Given the description of an element on the screen output the (x, y) to click on. 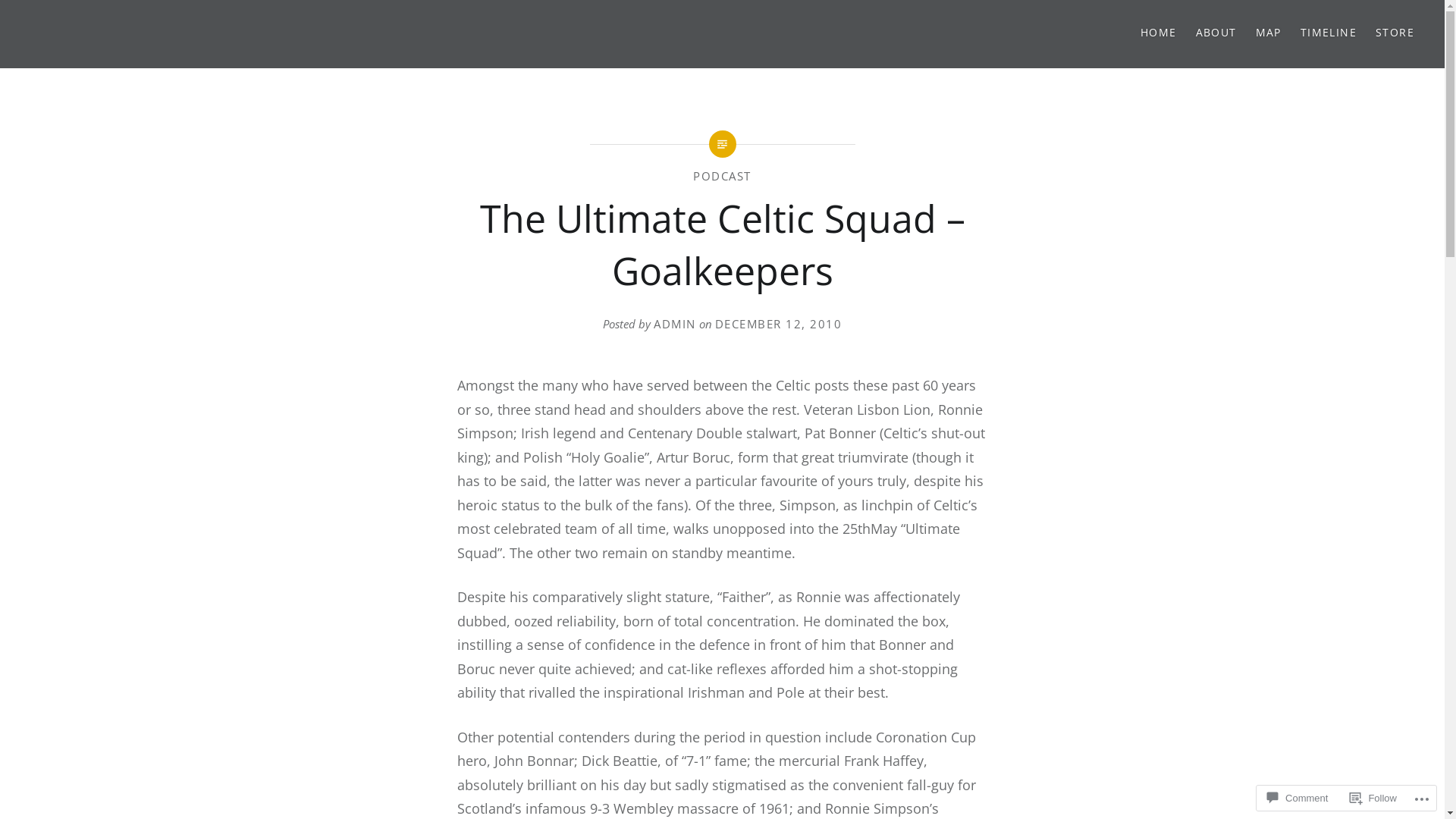
STORE Element type: text (1394, 32)
HOME Element type: text (1158, 32)
Follow Element type: text (1372, 797)
Comment Element type: text (1297, 797)
ADMIN Element type: text (674, 323)
PODCAST Element type: text (722, 175)
ABOUT Element type: text (1215, 32)
DECEMBER 12, 2010 Element type: text (777, 323)
MAP Element type: text (1268, 32)
TIMELINE Element type: text (1328, 32)
